Given the description of an element on the screen output the (x, y) to click on. 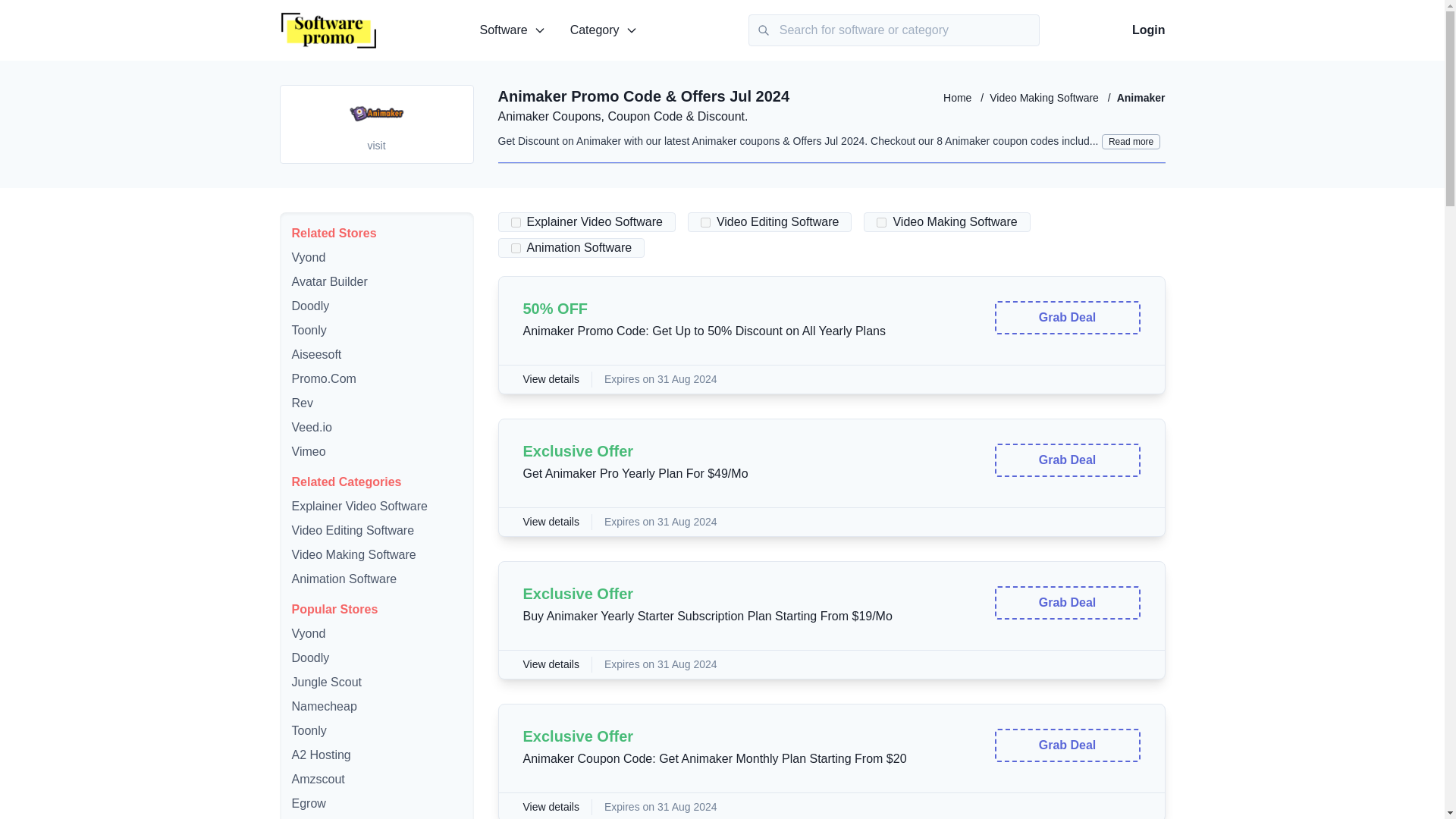
Video Editing Software (352, 530)
Category (603, 29)
Explainer Video Software (358, 505)
Amzscout (317, 779)
animation-software (516, 247)
Namecheap (323, 706)
Jungle Scout (326, 681)
explainer-video-software (516, 221)
Vyond (307, 256)
Home (958, 97)
Vyond (307, 633)
A2 Hosting (320, 754)
Video Making Software (352, 554)
Animation Software (343, 578)
Promo.Com (323, 378)
